Given the description of an element on the screen output the (x, y) to click on. 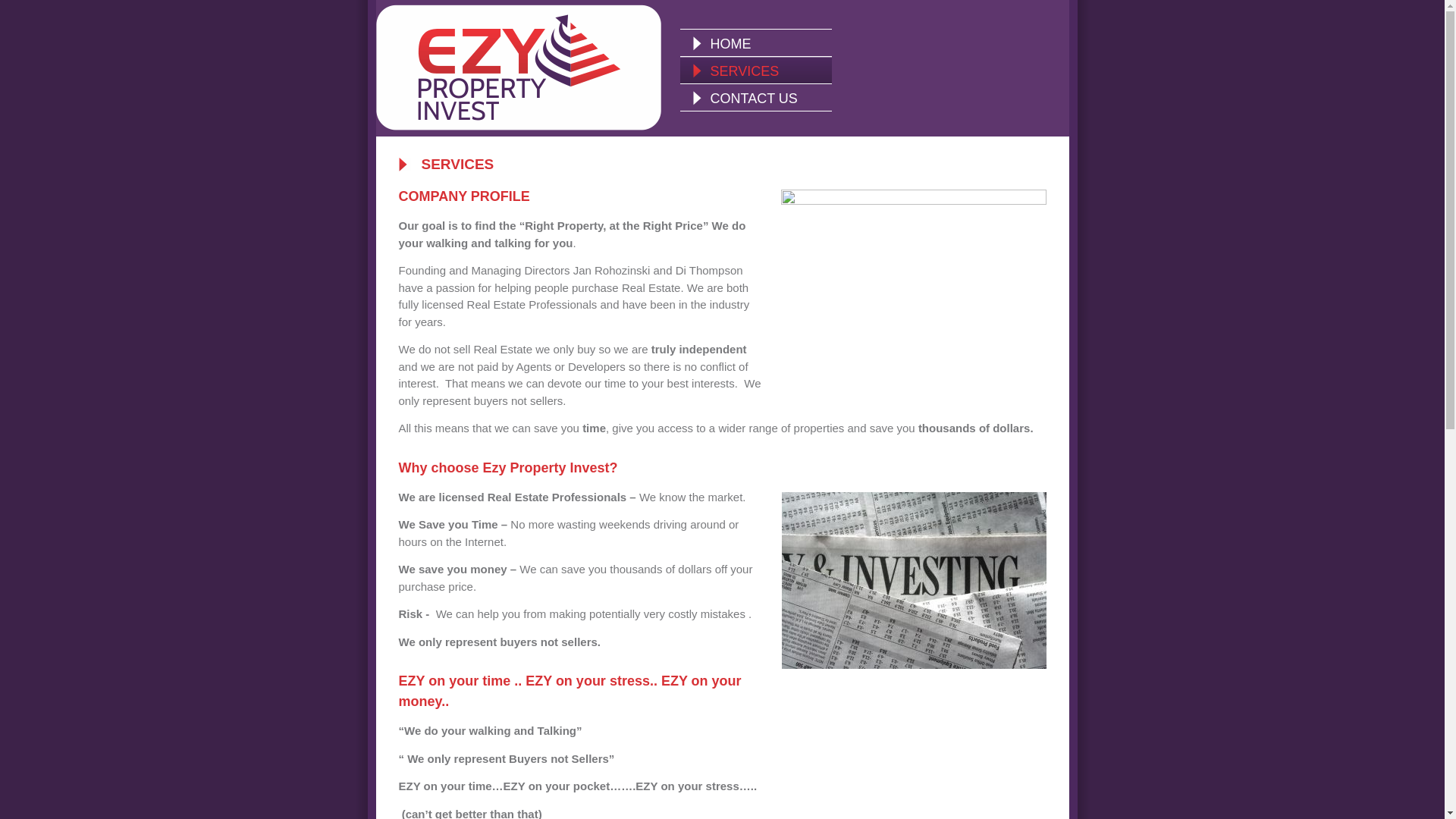
Ezy Property Invest about Element type: hover (913, 289)
ezy property invest Element type: hover (913, 579)
HOME Element type: text (755, 42)
CONTACT US Element type: text (755, 96)
SERVICES Element type: text (755, 69)
